Given the description of an element on the screen output the (x, y) to click on. 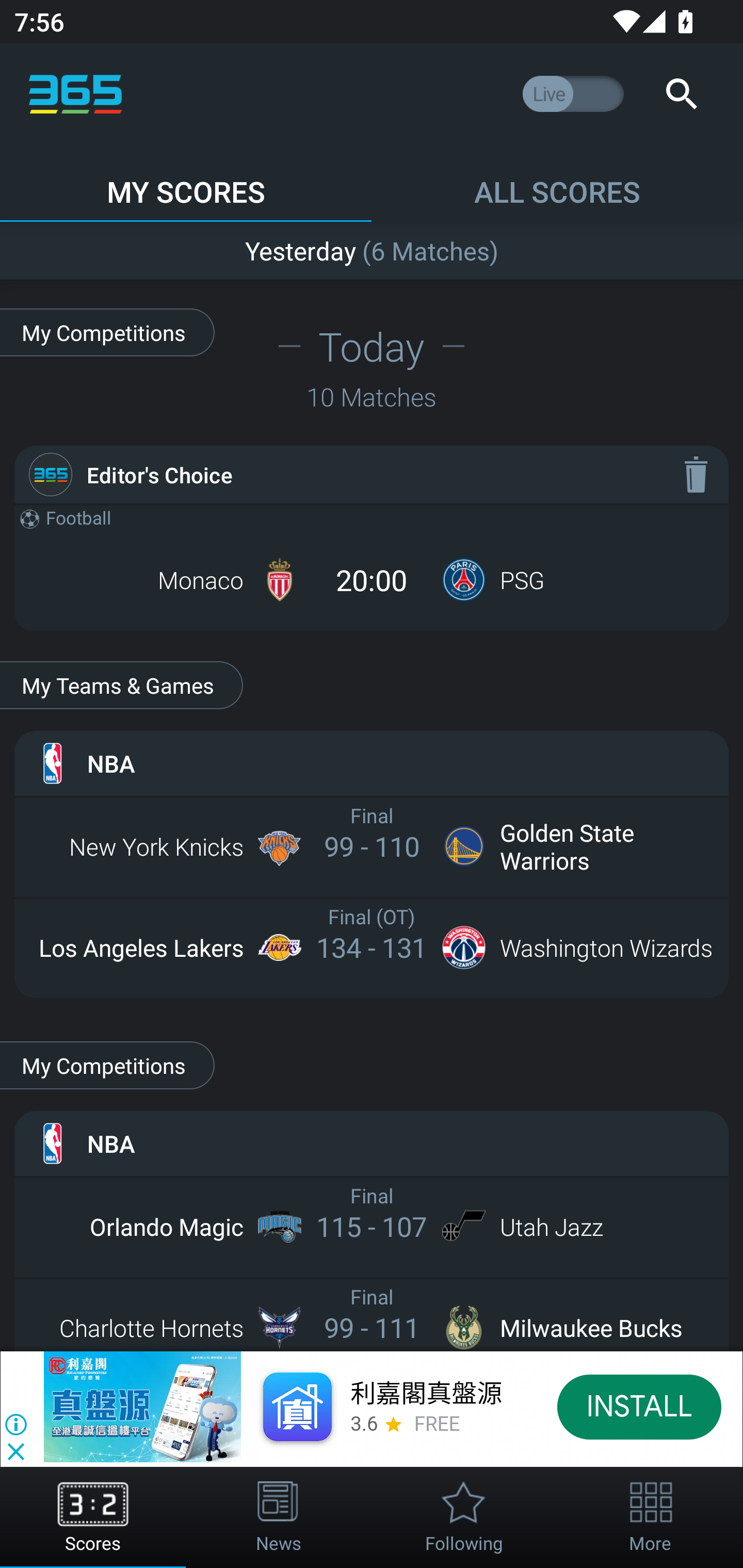
Search (681, 93)
MY SCORES (185, 182)
ALL SCORES (557, 182)
Denver Nuggets 117 - 96 Sacramento Kings (371, 246)
Football Monaco 20:00 PSG (371, 567)
NBA (371, 763)
NBA (371, 1143)
Orlando Magic Final 115 - 107 Utah Jazz (371, 1226)
Charlotte Hornets Final 99 - 111 Milwaukee Bucks (371, 1327)
INSTALL (639, 1406)
利嘉閣真盤源 (425, 1394)
News (278, 1517)
Following (464, 1517)
More (650, 1517)
